Given the description of an element on the screen output the (x, y) to click on. 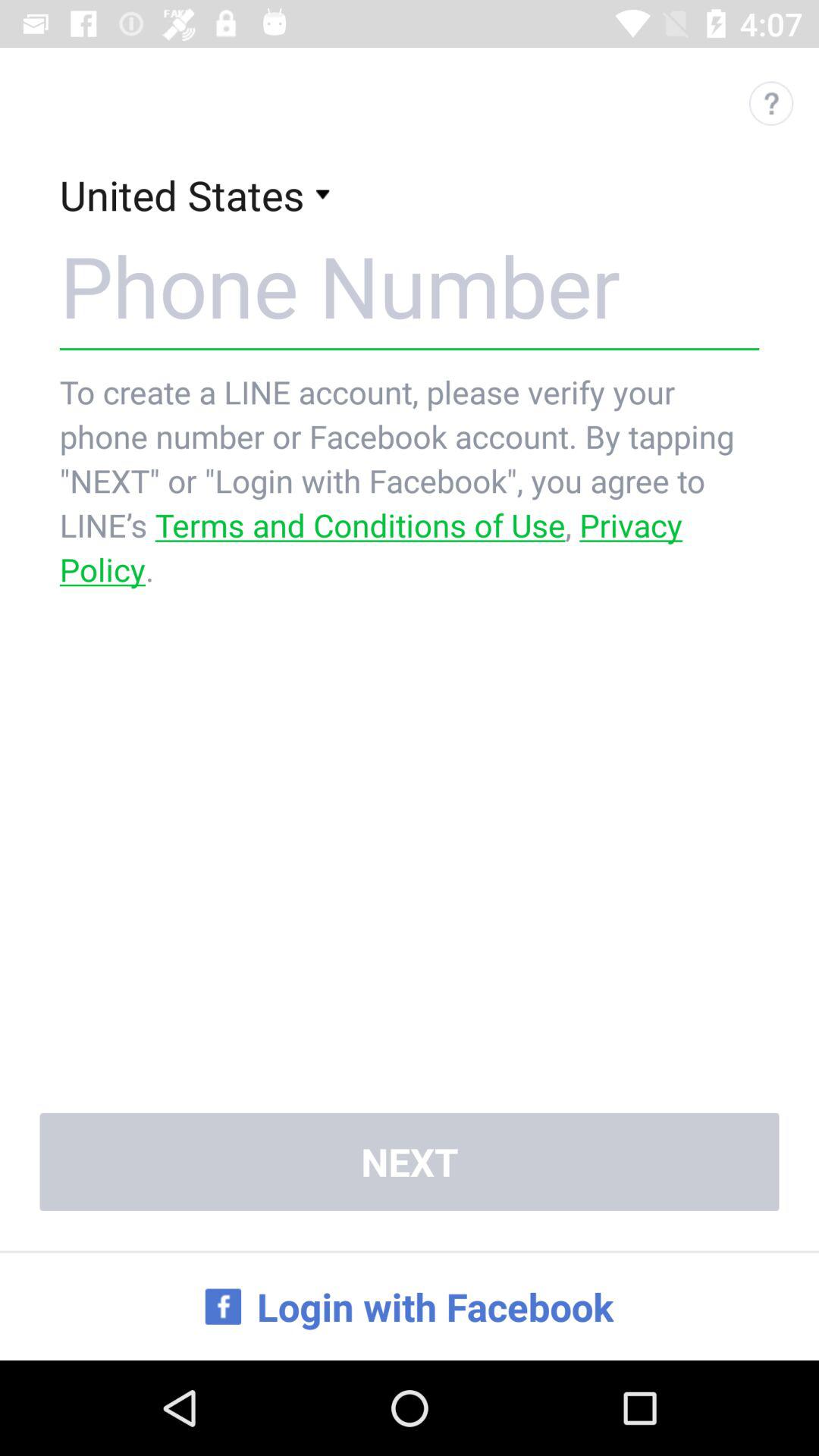
phone number (409, 284)
